Given the description of an element on the screen output the (x, y) to click on. 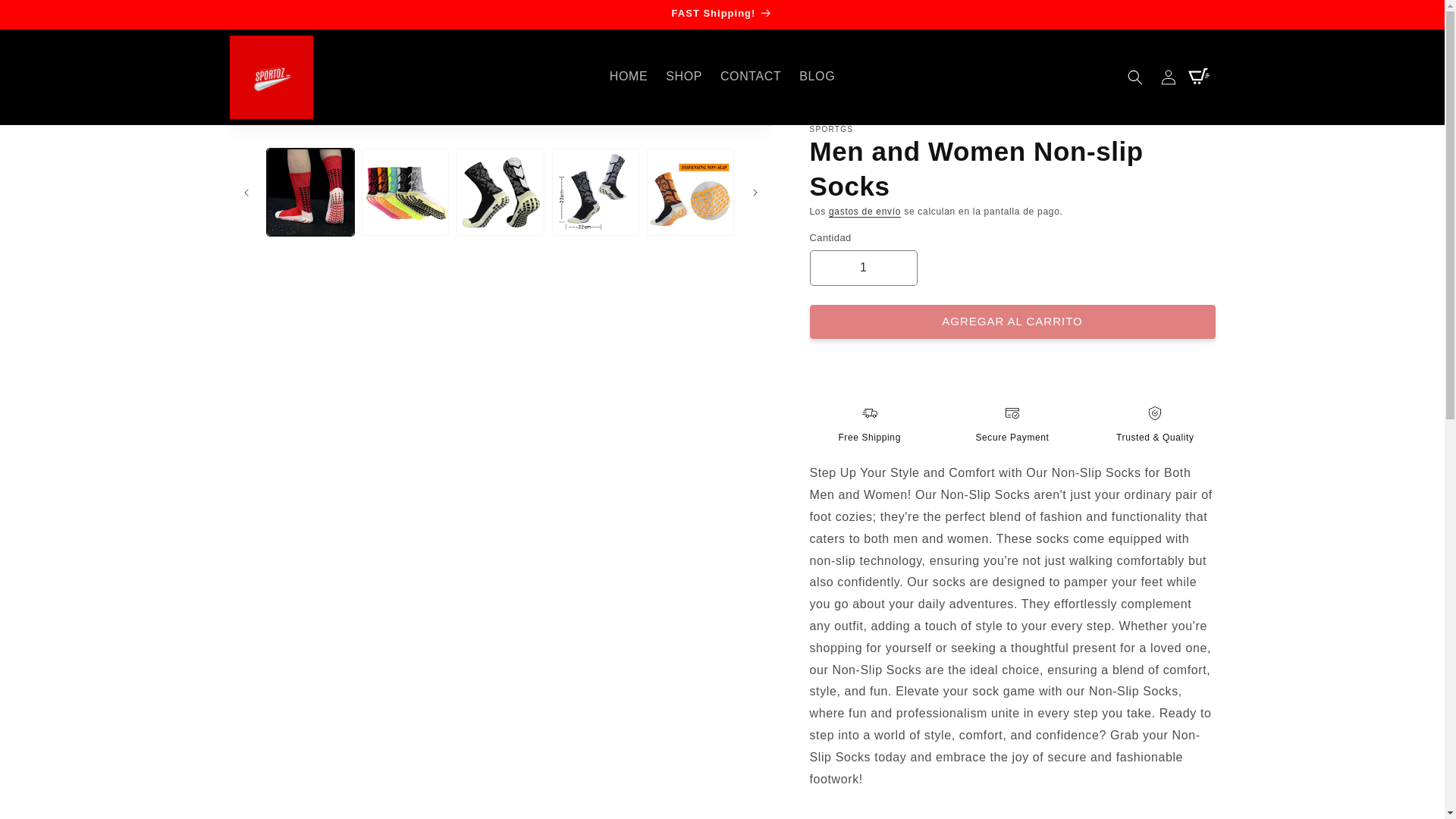
1 (863, 267)
CARRITO (1201, 77)
FAST Shipping! (721, 14)
Ir directamente al contenido (45, 16)
HOME (627, 76)
BLOG (817, 76)
SHOP (683, 76)
CONTACT (750, 76)
